Given the description of an element on the screen output the (x, y) to click on. 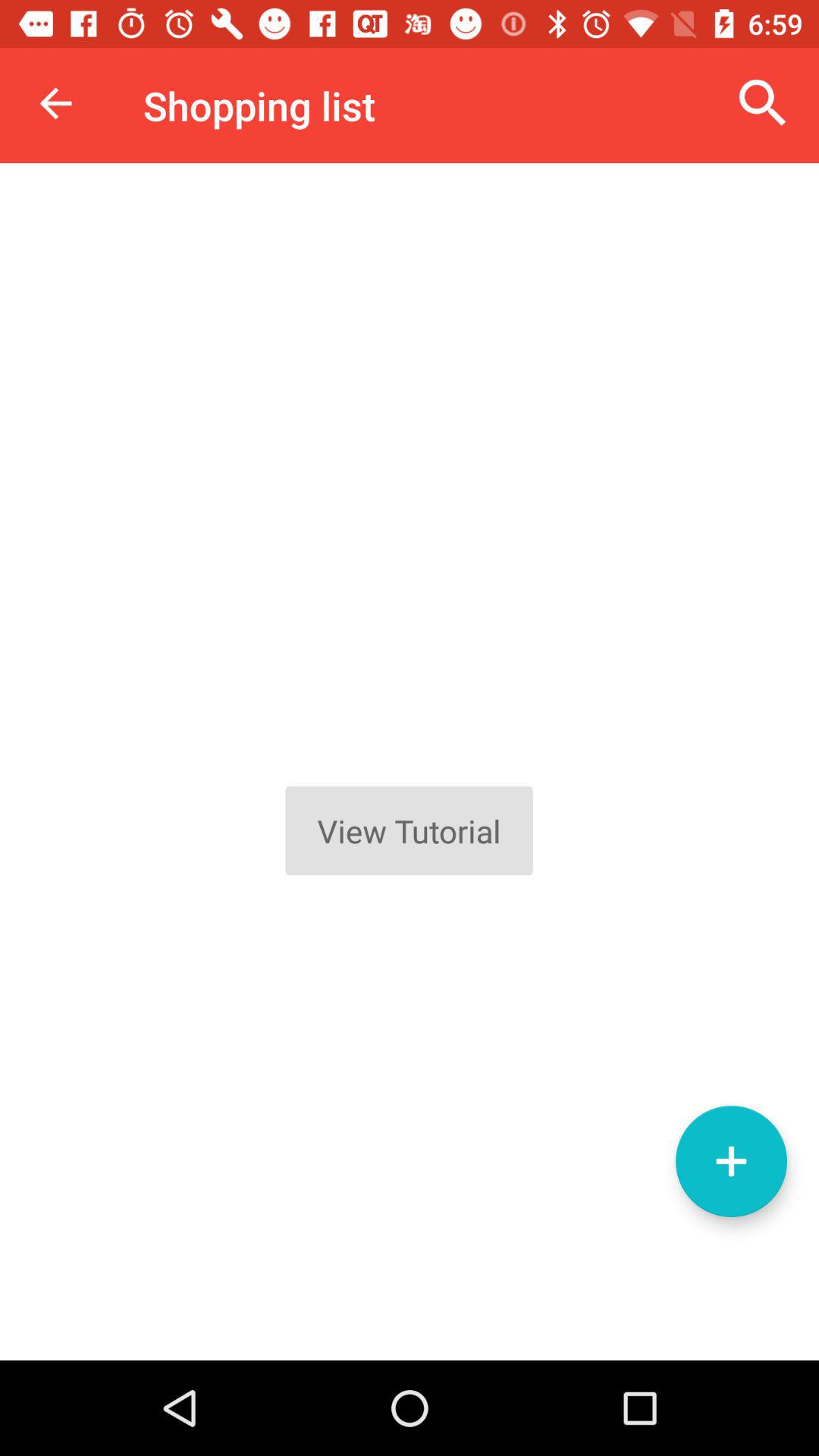
choose icon next to the shopping list item (55, 103)
